Given the description of an element on the screen output the (x, y) to click on. 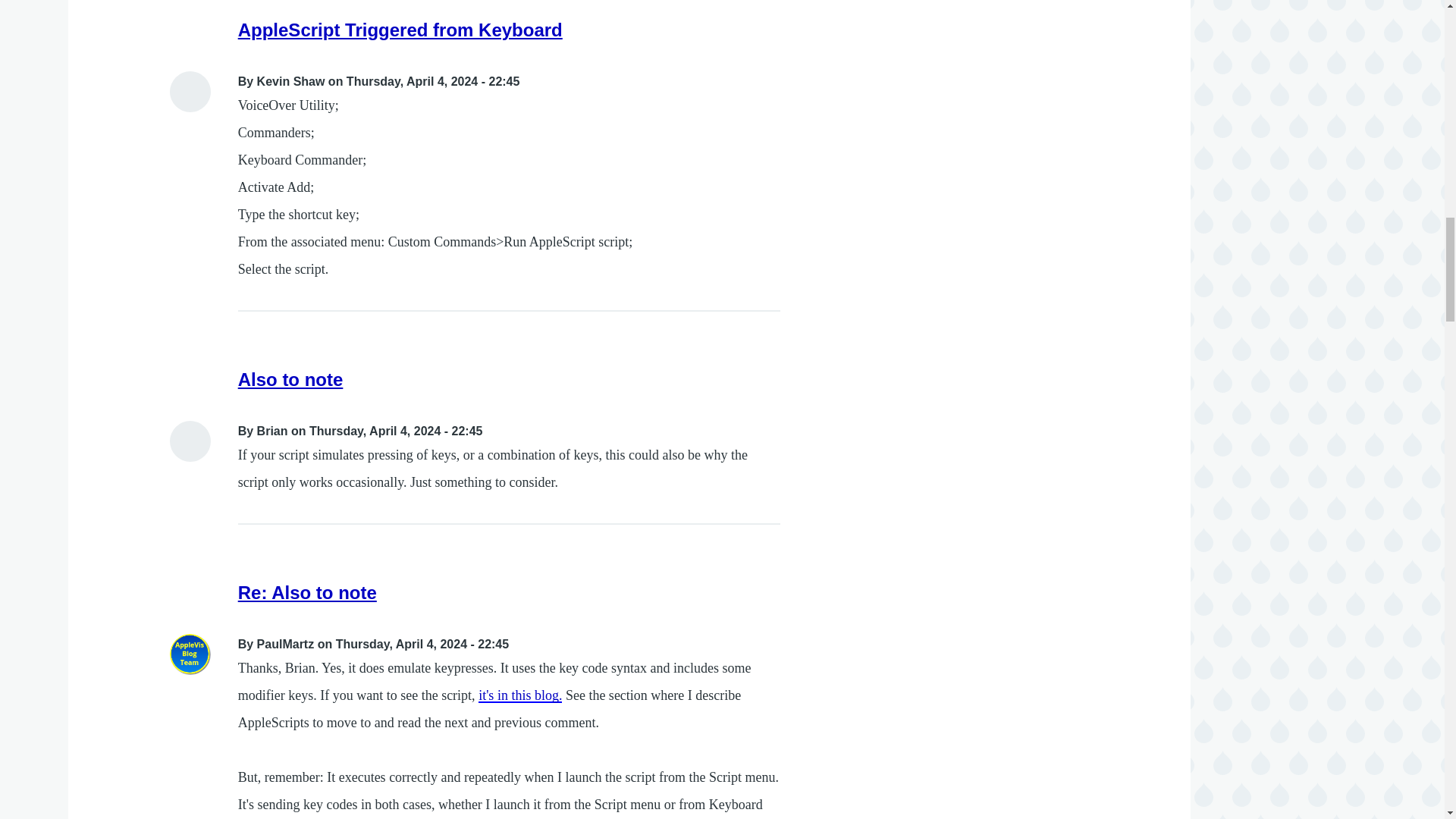
AppleScript Triggered from Keyboard (400, 29)
it's in this blog. (520, 694)
Re: Also to note (307, 592)
Also to note (290, 379)
